Given the description of an element on the screen output the (x, y) to click on. 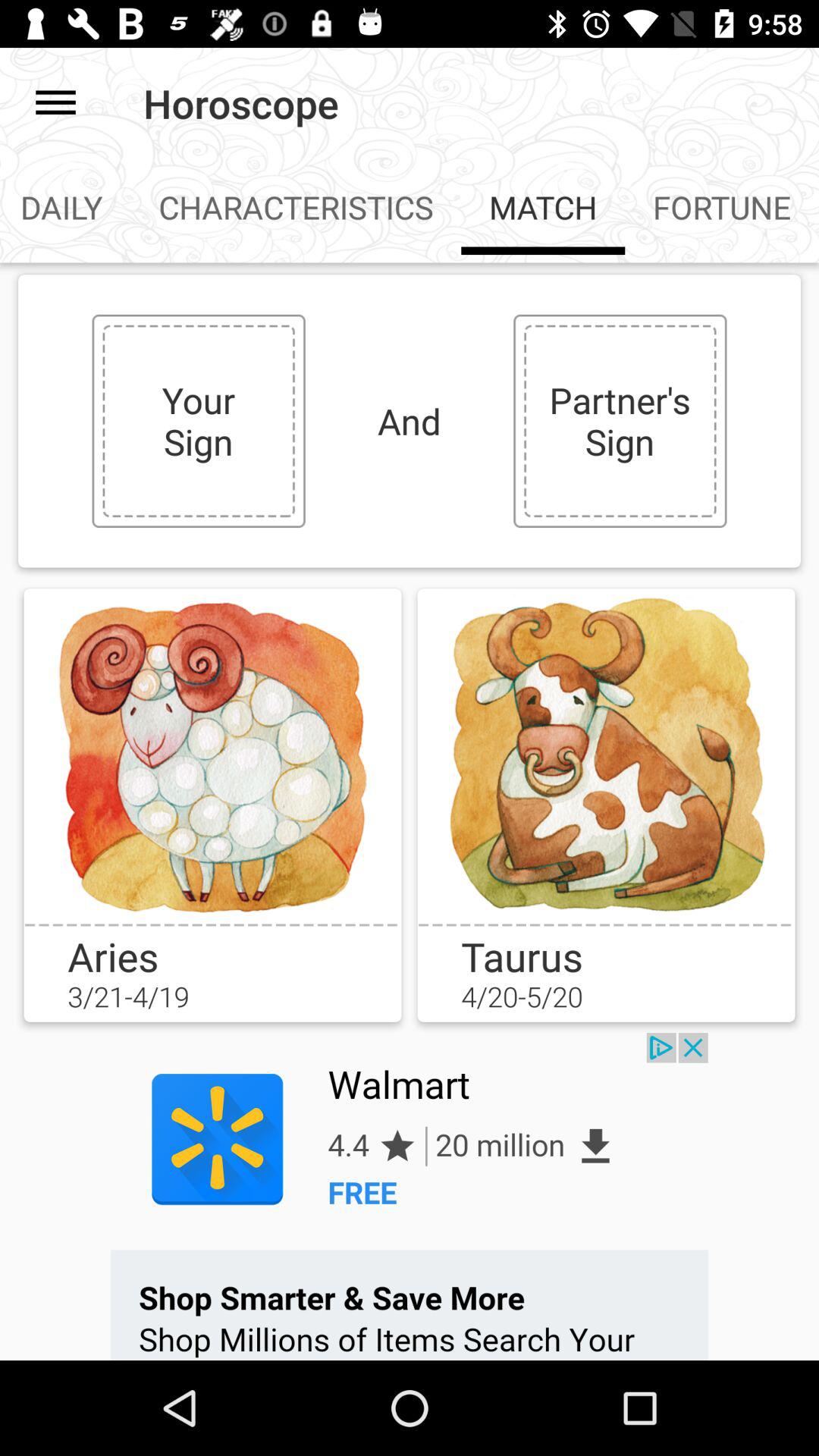
select taurus (606, 755)
